Given the description of an element on the screen output the (x, y) to click on. 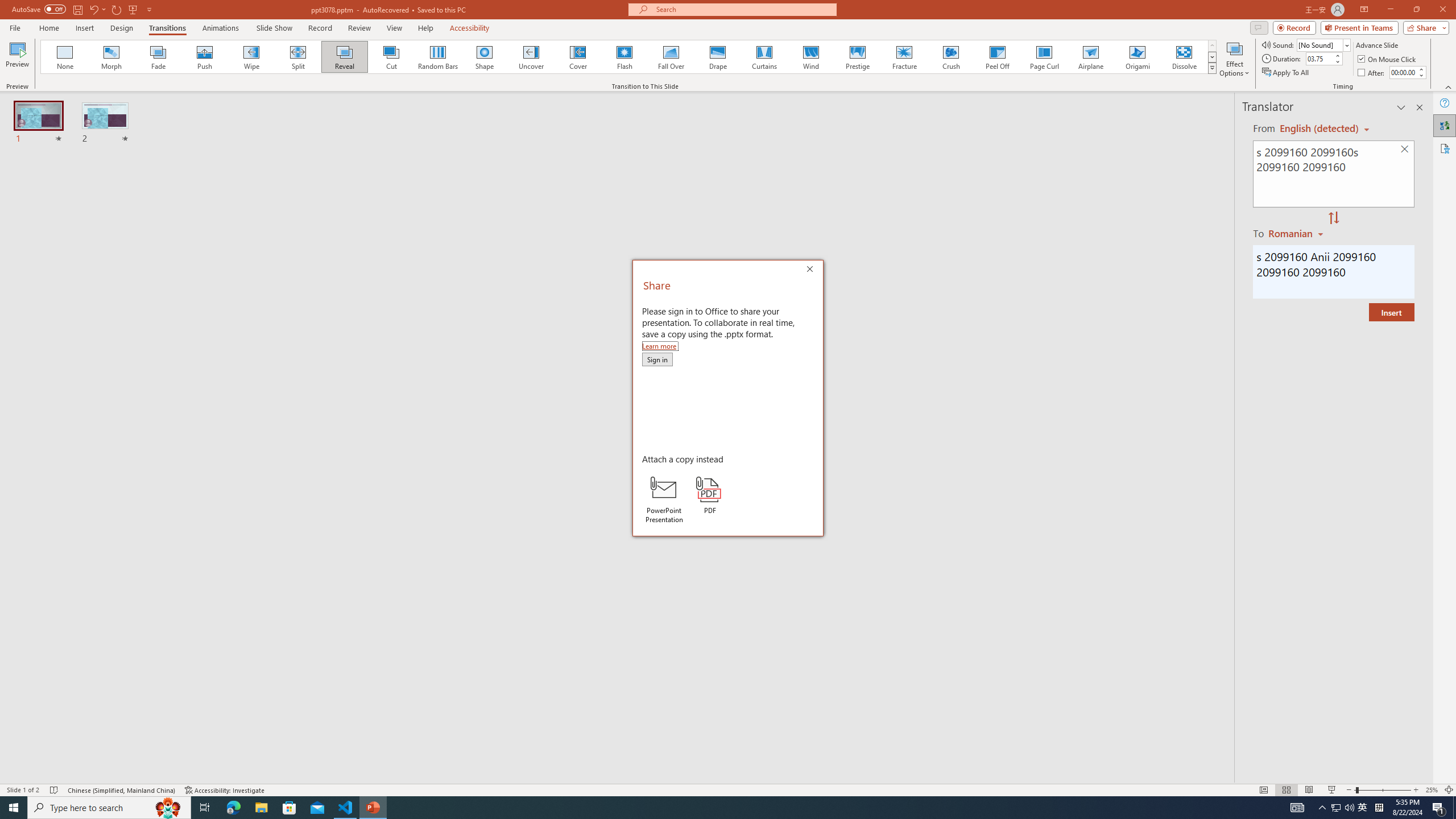
None (65, 56)
Duration (1319, 58)
Swap "from" and "to" languages. (1333, 218)
Fall Over (670, 56)
